Given the description of an element on the screen output the (x, y) to click on. 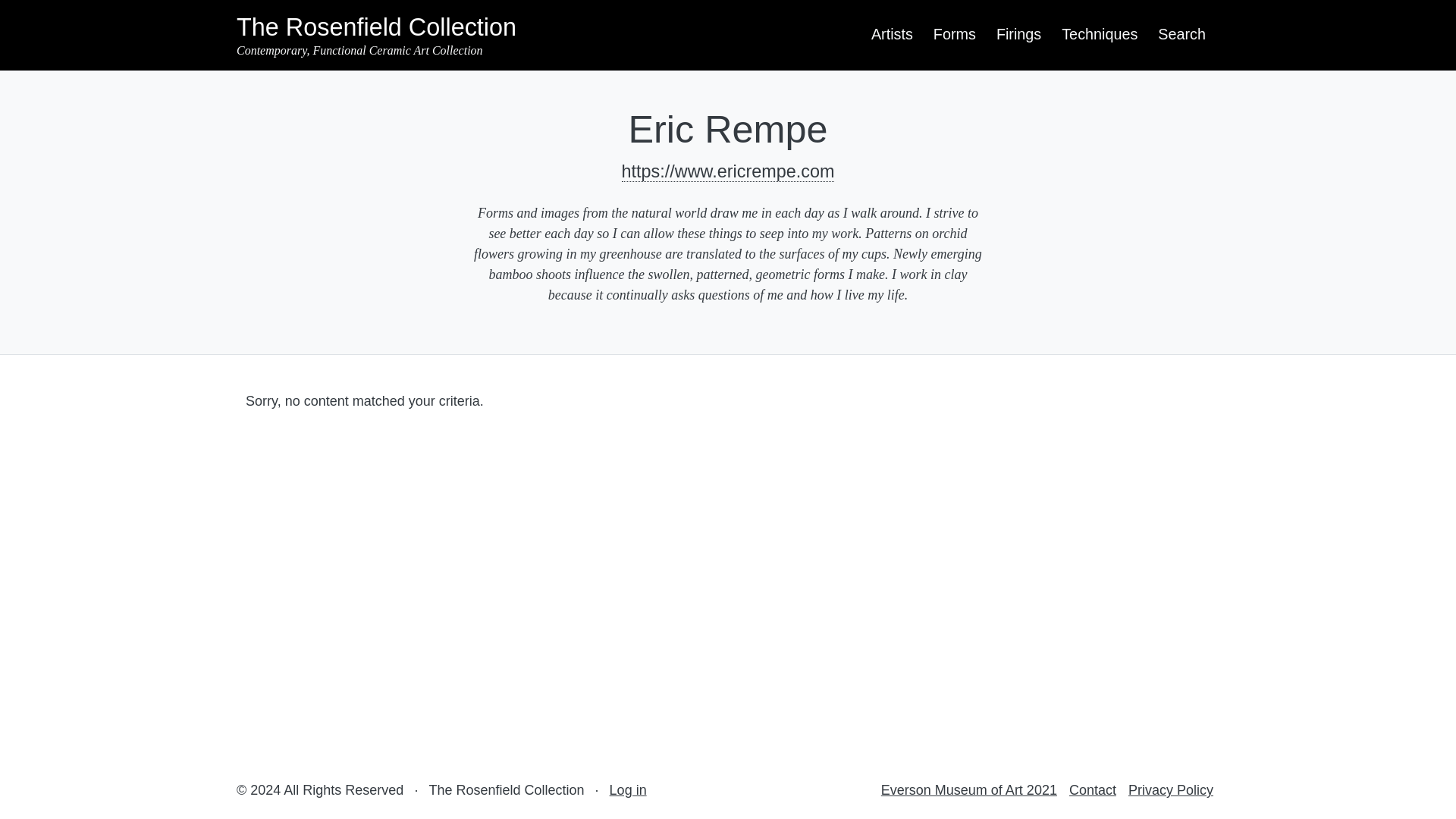
Everson Museum of Art 2021 (968, 789)
Artists (892, 34)
The Rosenfield Collection (375, 26)
Techniques (1099, 34)
Privacy Policy (1171, 789)
Contact (1092, 789)
Forms (954, 34)
Log in (628, 789)
Firings (1019, 34)
Search (1181, 34)
